Given the description of an element on the screen output the (x, y) to click on. 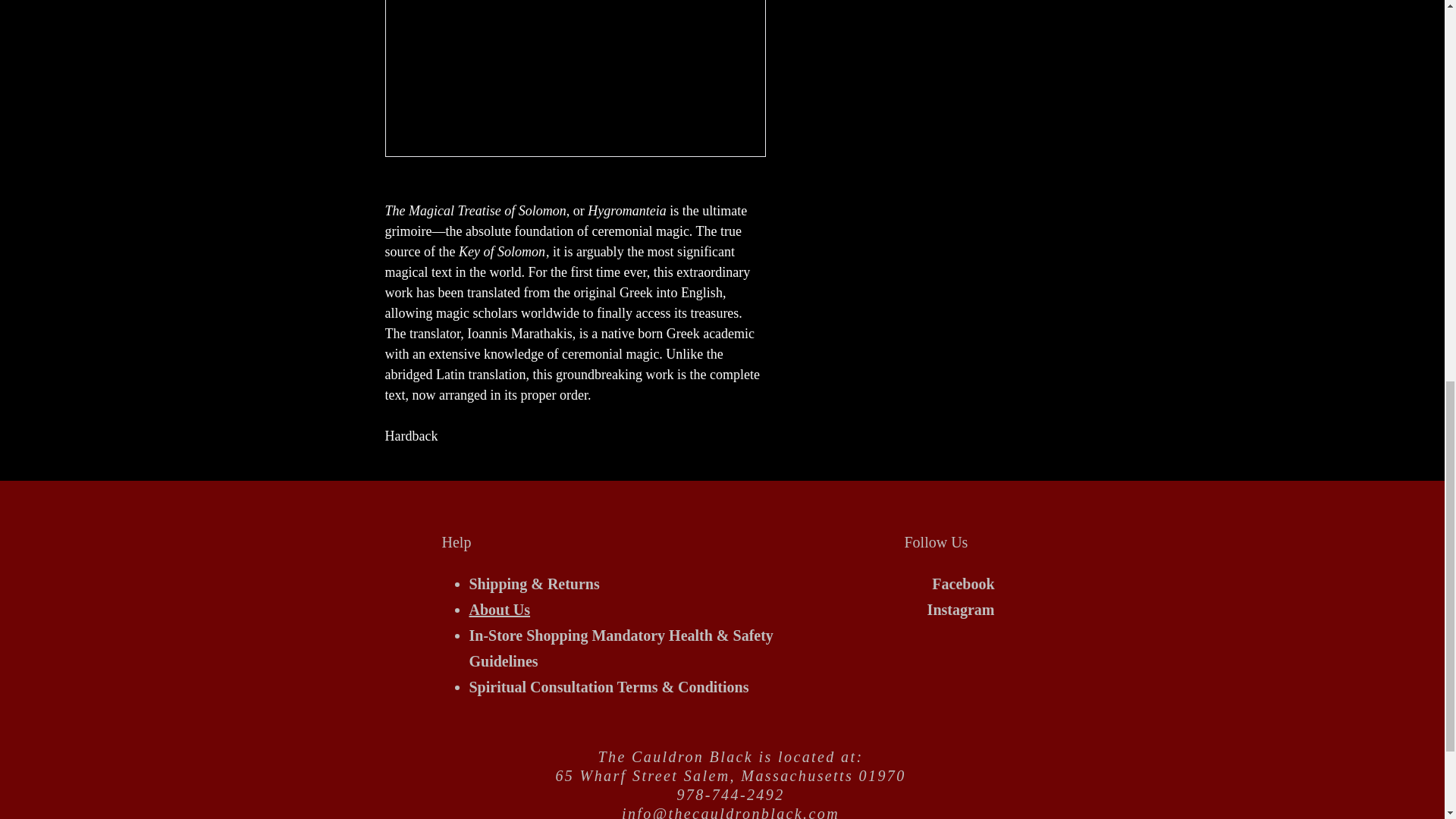
Facebook (962, 583)
Instagram (960, 609)
About Us (498, 609)
